Given the description of an element on the screen output the (x, y) to click on. 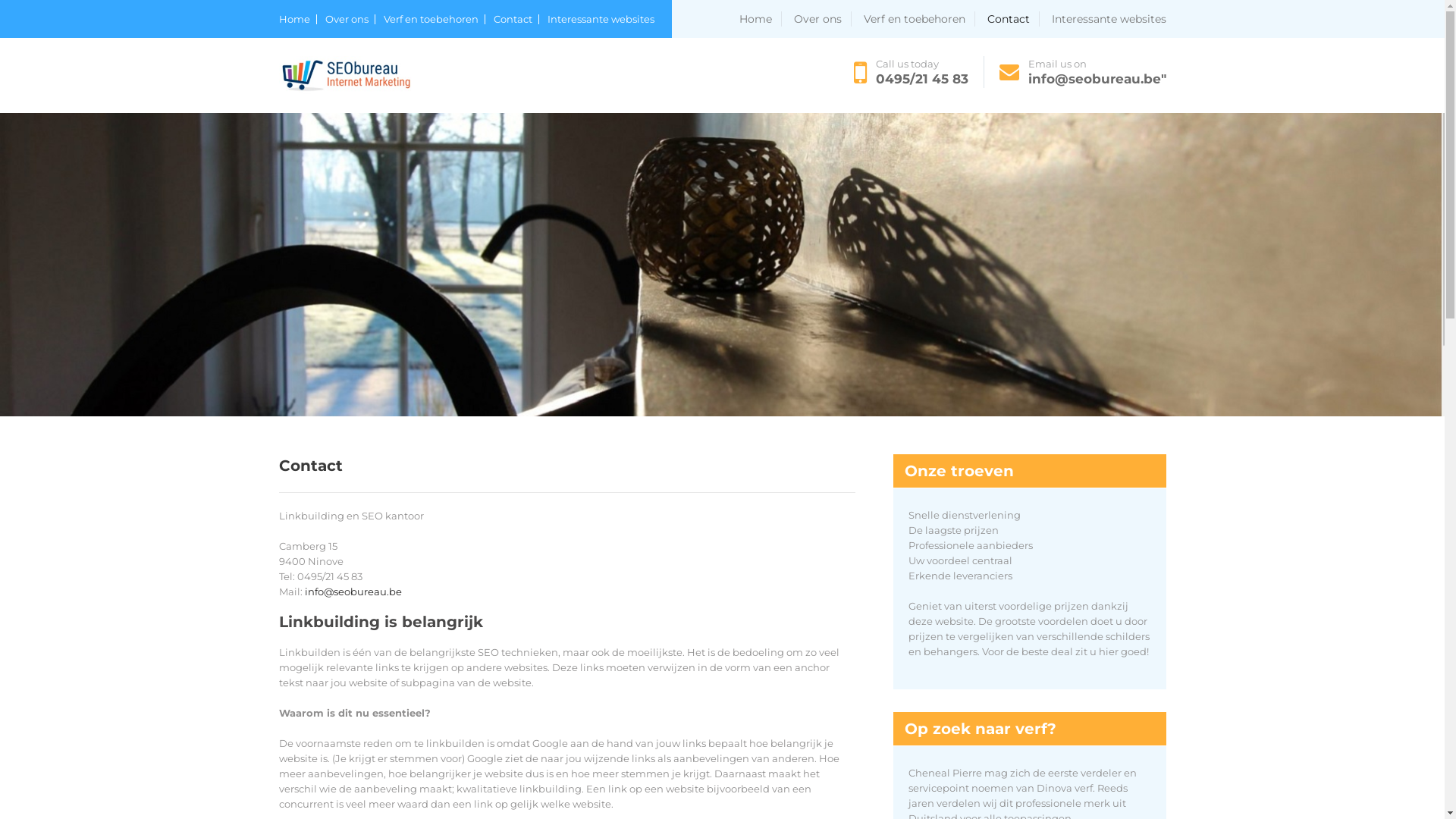
info@seobureau.be Element type: text (352, 591)
Interessante websites Element type: text (600, 19)
Home Element type: text (297, 19)
Home Element type: text (759, 18)
Contact Element type: text (515, 19)
Over ons Element type: text (821, 18)
Verf en toebehoren Element type: text (434, 19)
info@seobureau.be" Element type: text (1097, 78)
Contact Element type: text (1013, 18)
Interessante websites Element type: text (1108, 18)
Verf en toebehoren Element type: text (918, 18)
Over ons Element type: text (349, 19)
